Given the description of an element on the screen output the (x, y) to click on. 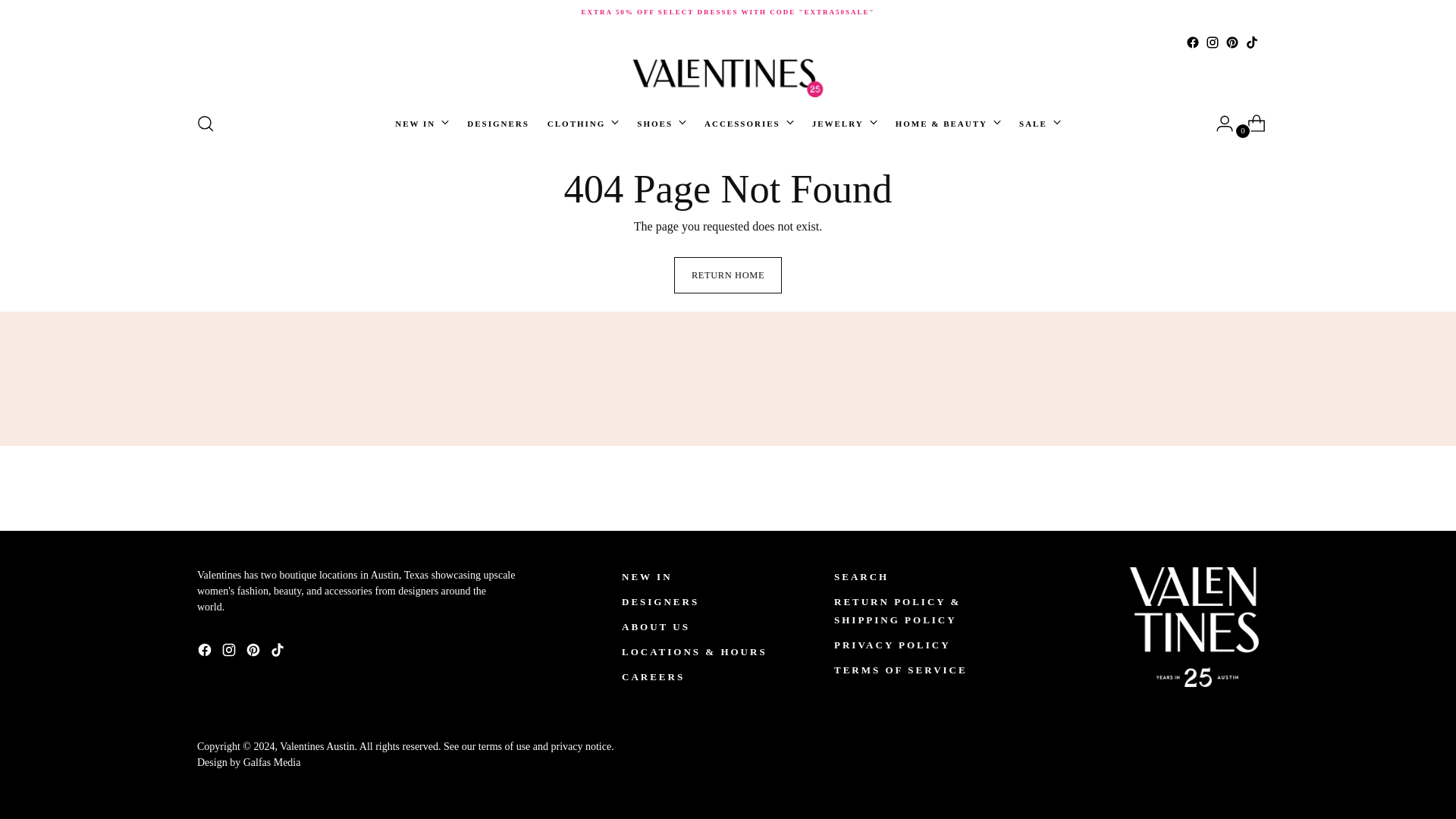
Valentines Austin on Instagram (1212, 42)
CLOTHING (583, 123)
Valentines Austin on Tiktok (1251, 42)
DESIGNERS (498, 123)
Galfas Media Web Design and Digital Marketing (247, 762)
NEW IN (421, 123)
Valentines Austin on Instagram (230, 652)
Valentines Austin on Pinterest (1232, 42)
Valentines Austin on Tiktok (278, 652)
Valentines Austin on Facebook (1192, 42)
